Given the description of an element on the screen output the (x, y) to click on. 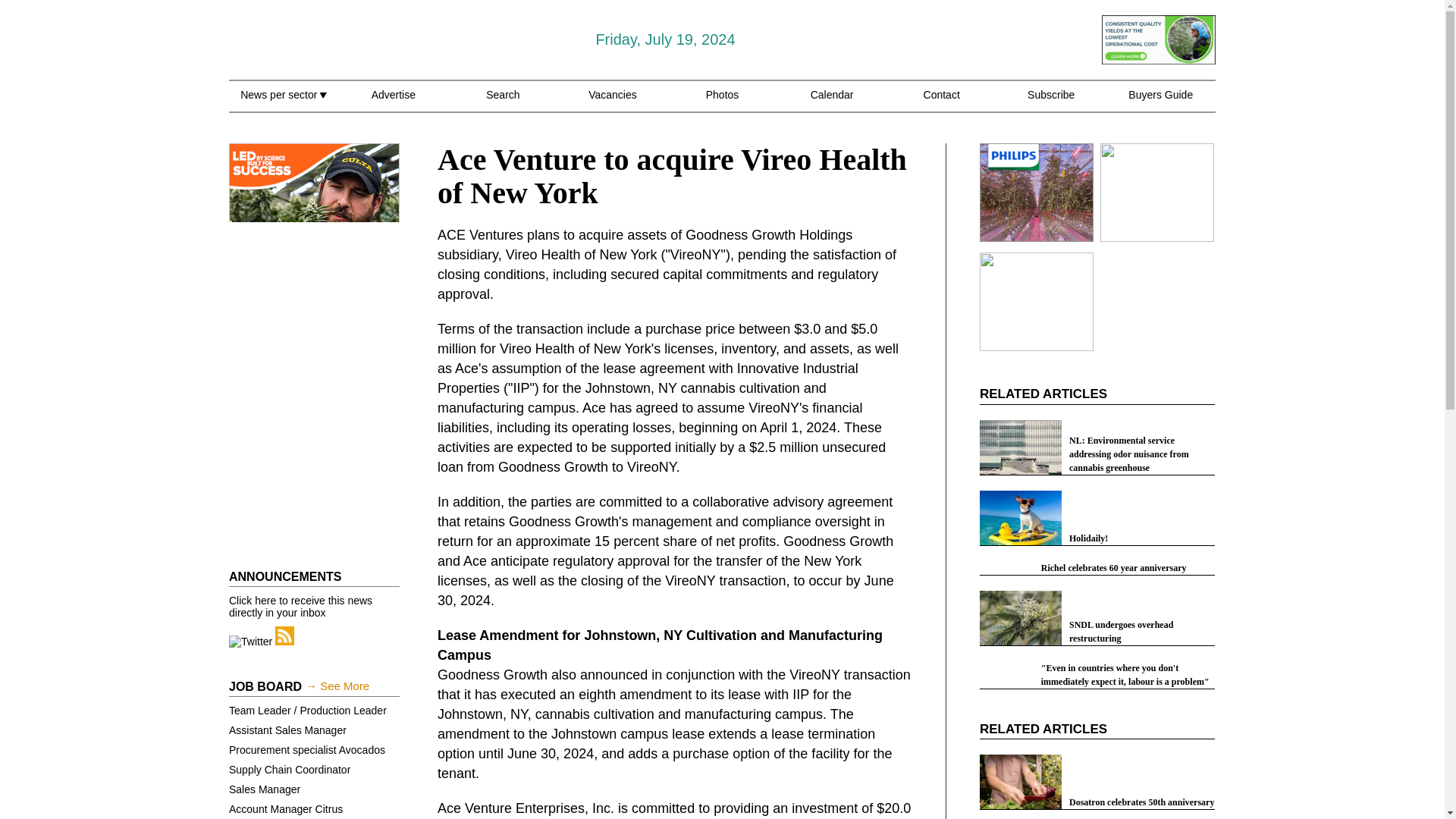
Vacancies (612, 103)
Search (502, 103)
Photos (722, 103)
News per sector (283, 103)
Advertise (392, 103)
